Given the description of an element on the screen output the (x, y) to click on. 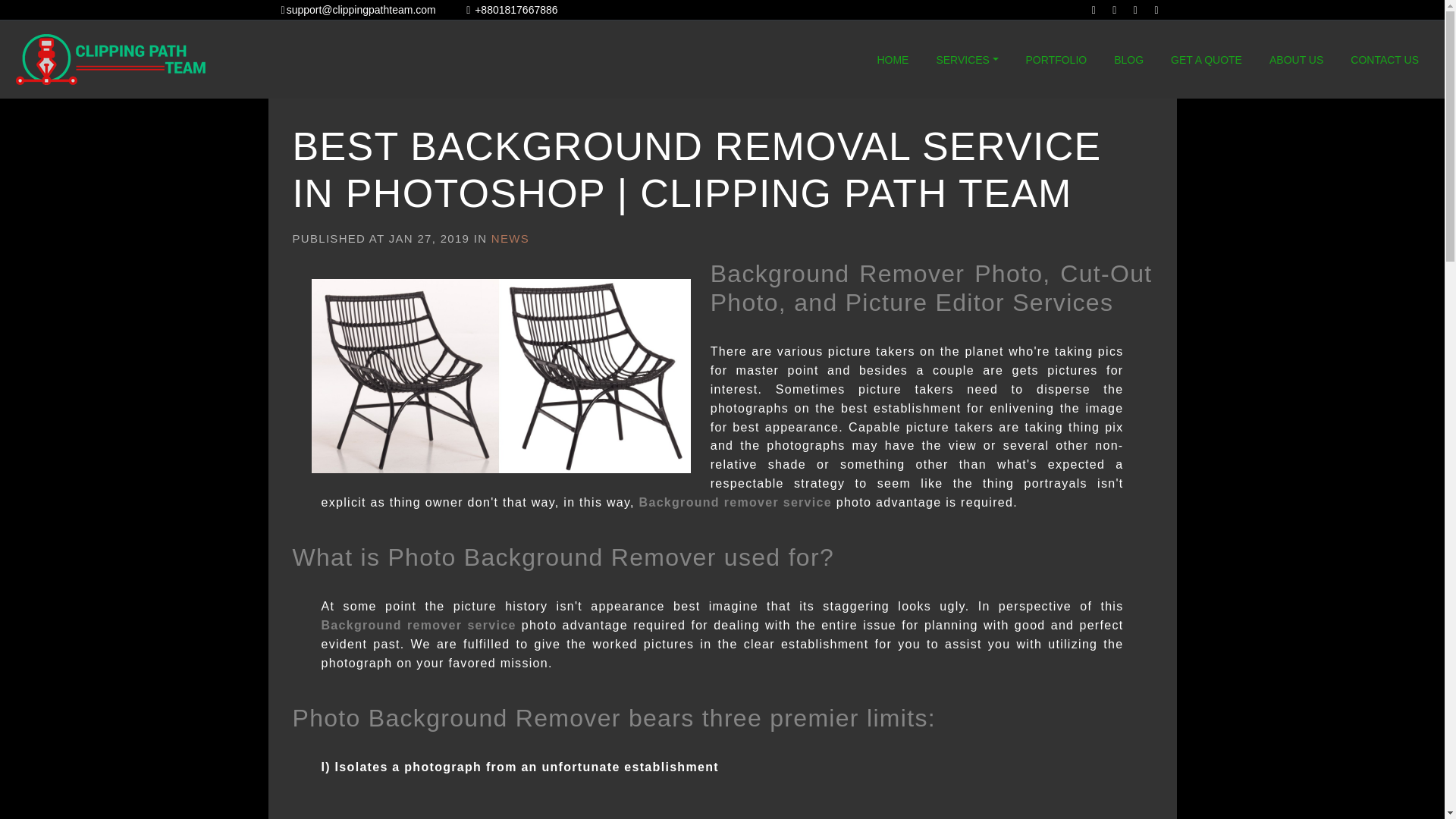
GET A QUOTE (1205, 60)
NEWS (510, 237)
HOME (892, 60)
Background remover service (735, 502)
ABOUT US (1296, 60)
Background remover service (418, 625)
BLOG (1129, 60)
SERVICES (967, 60)
CONTACT US (1384, 60)
PORTFOLIO (1056, 60)
